Given the description of an element on the screen output the (x, y) to click on. 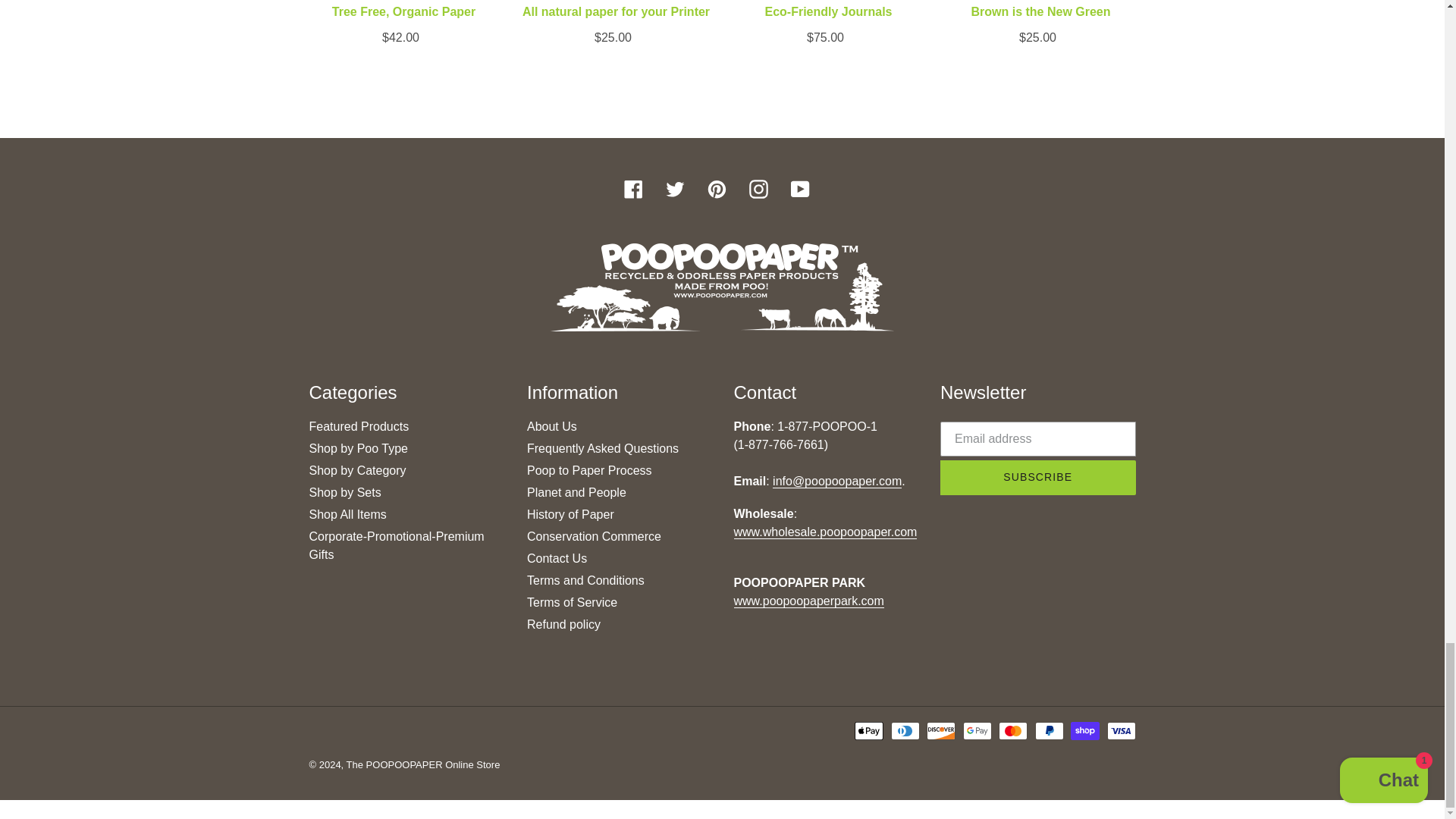
Shop by Poo Type (357, 448)
Shop by Category (357, 470)
Featured Products (358, 426)
Shop All Items (347, 513)
Shop by Sets (344, 492)
Corporate-Promotional-Premium Gifts (396, 545)
